Given the description of an element on the screen output the (x, y) to click on. 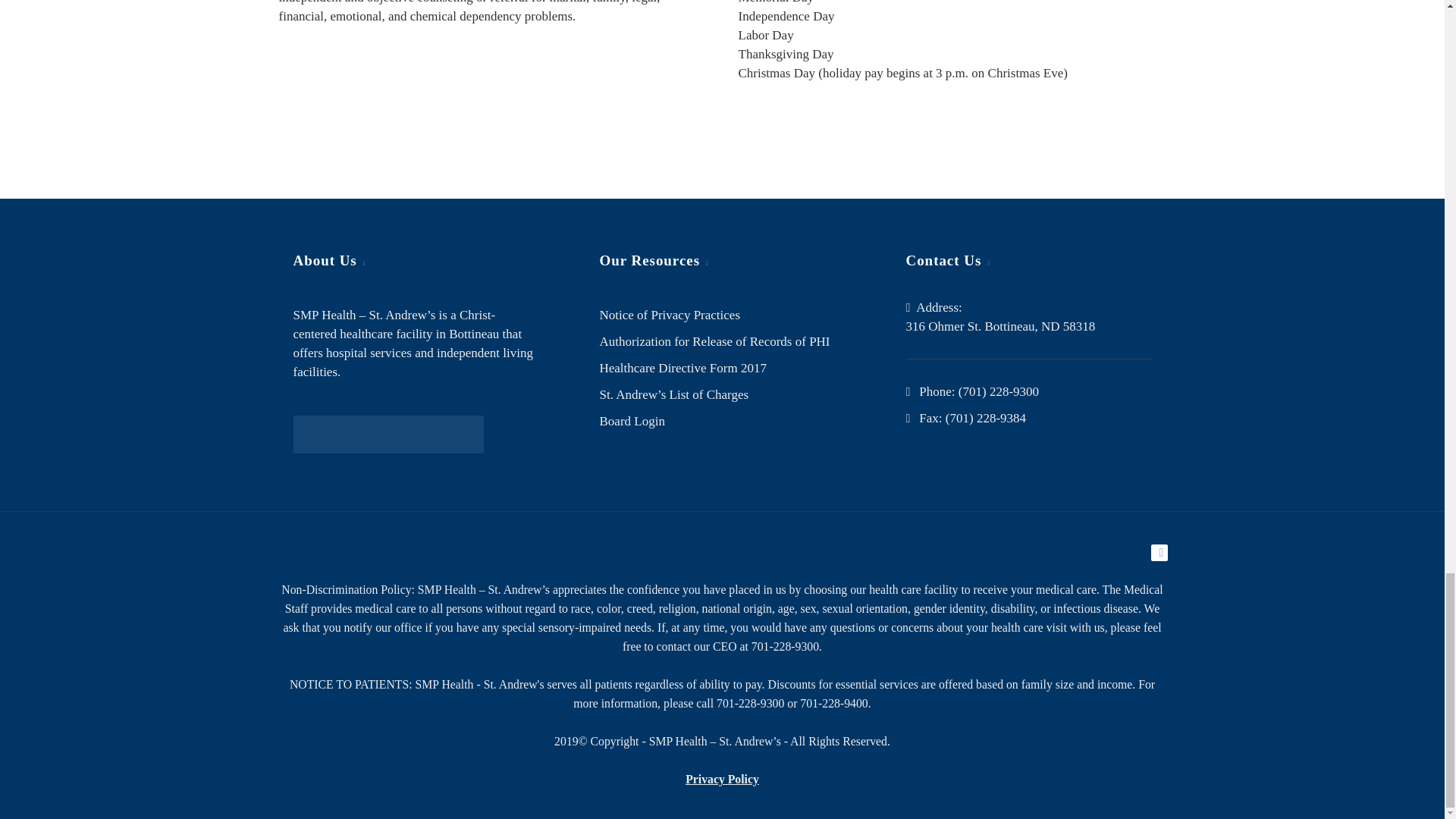
Healthcare Directive Form 2017 (681, 368)
Notice of Privacy Practices (668, 314)
Authorization for Release of Records of PHI (713, 341)
